Given the description of an element on the screen output the (x, y) to click on. 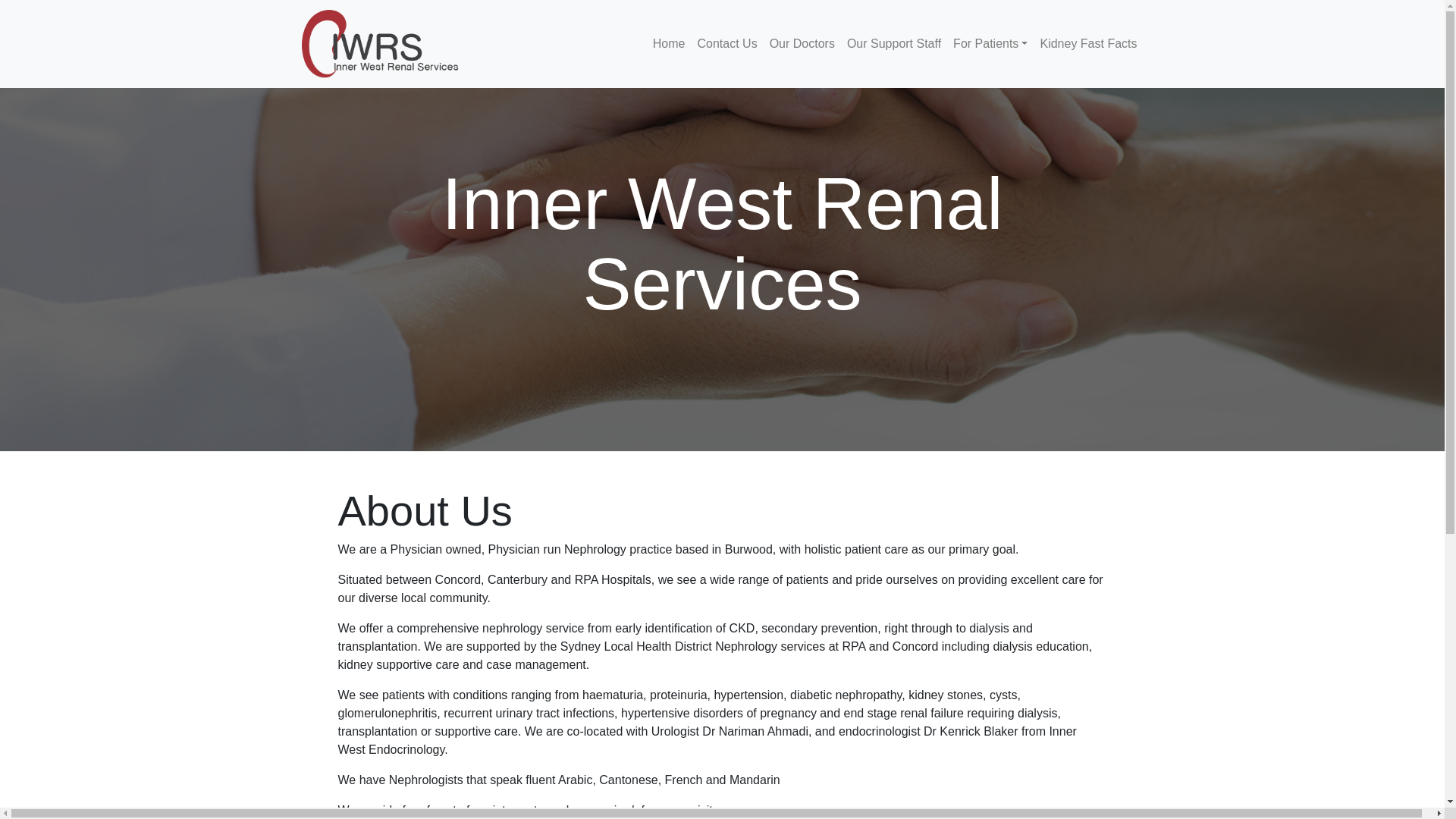
Kidney Fast Facts Element type: text (1087, 43)
Contact Us Element type: text (727, 43)
Our Doctors Element type: text (801, 43)
Home Element type: text (668, 43)
For Patients Element type: text (990, 43)
Our Support Staff Element type: text (893, 43)
